Given the description of an element on the screen output the (x, y) to click on. 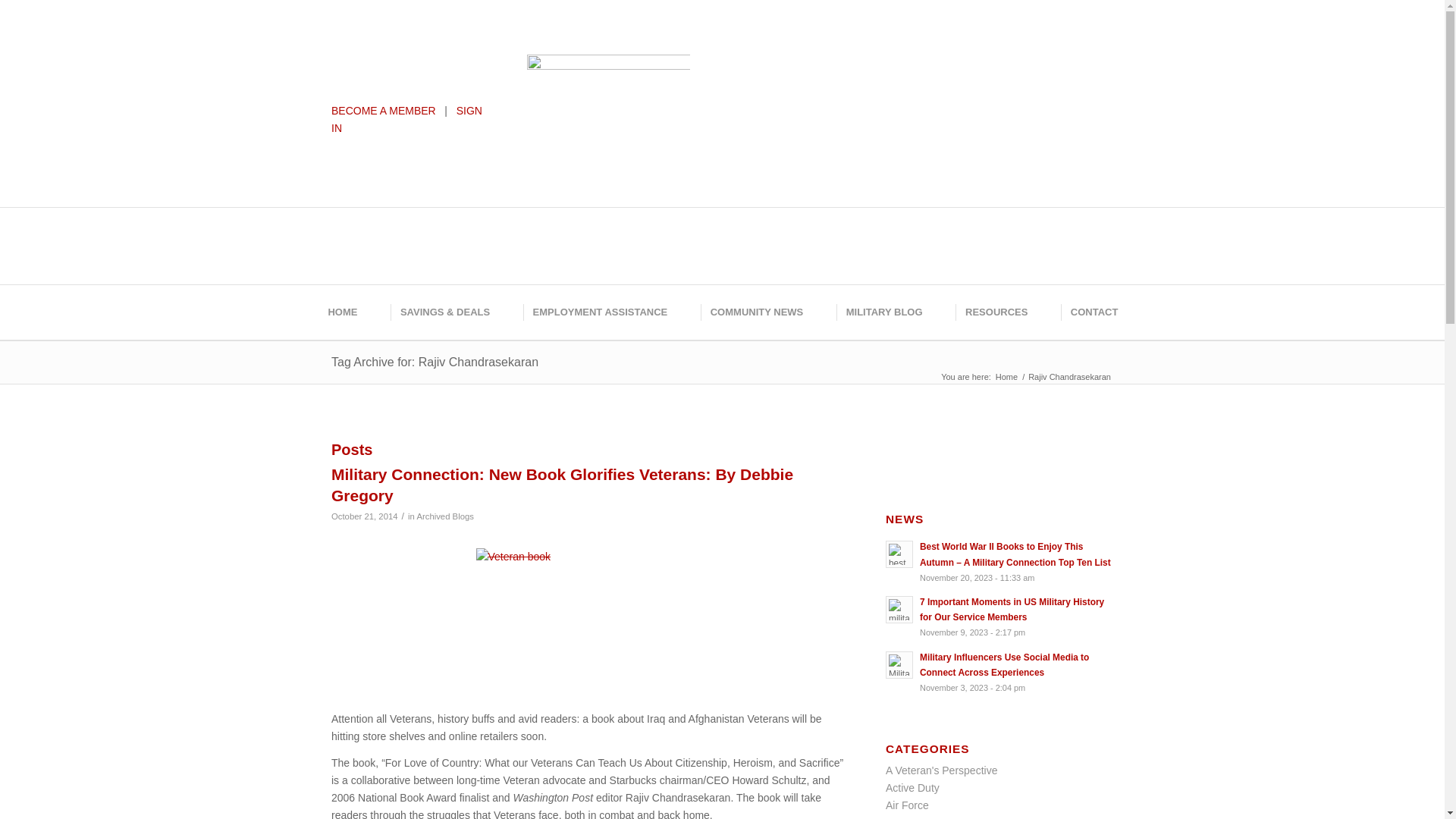
Twitter (771, 48)
Home (1006, 377)
MILITARY BLOG (882, 311)
Permanent Link: Tag Archive for: Rajiv Chandrasekaran (434, 361)
EMPLOYMENT ASSISTANCE (598, 311)
COMMUNITY NEWS (755, 311)
Archived Blogs (445, 515)
HOME (341, 311)
